Given the description of an element on the screen output the (x, y) to click on. 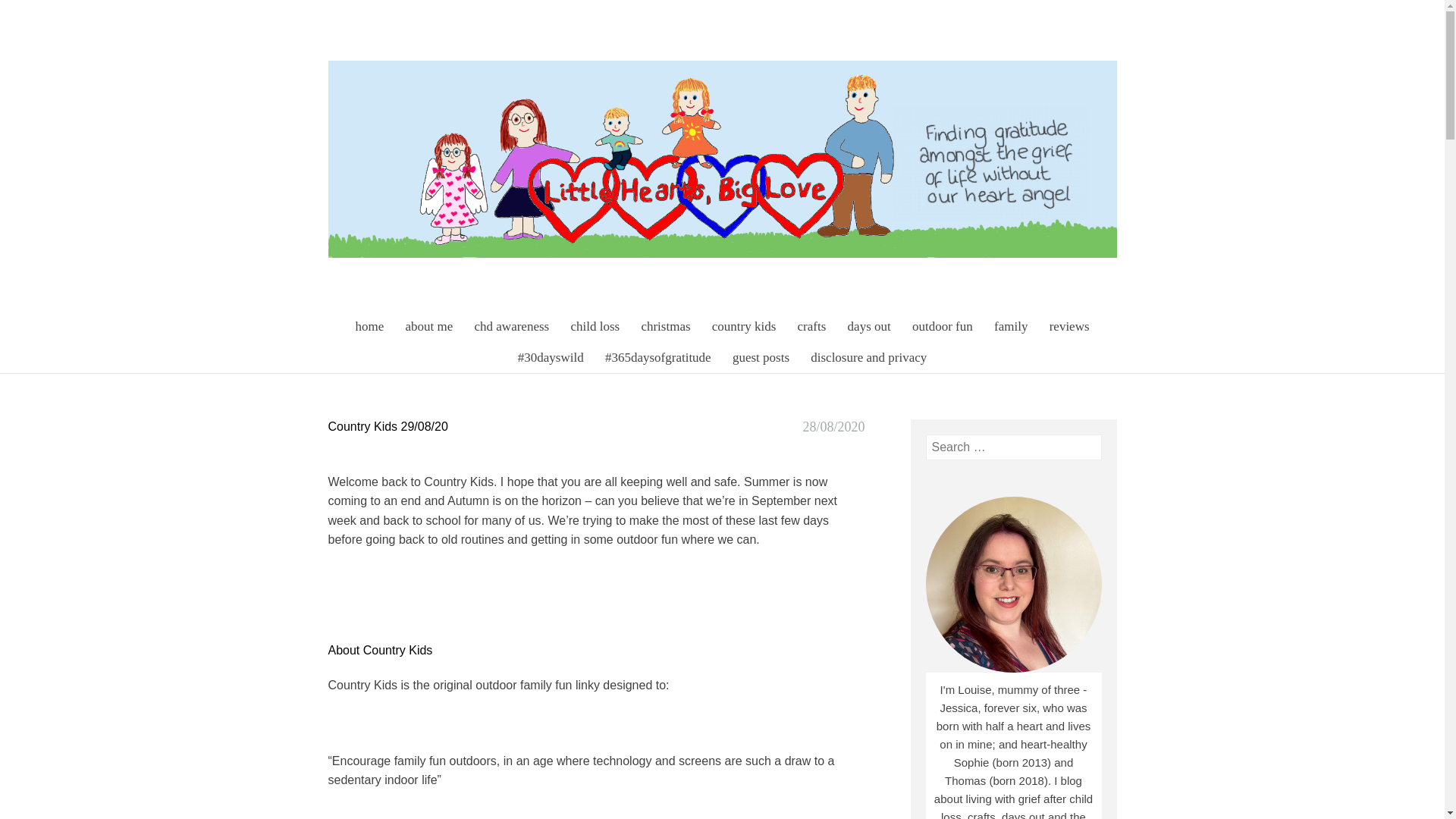
disclosure and privacy (869, 357)
country kids (744, 326)
chd awareness (512, 326)
family (1010, 326)
reviews (1070, 326)
christmas (664, 326)
days out (868, 326)
about me (428, 326)
crafts (812, 326)
outdoor fun (941, 326)
skip to content (313, 319)
home (369, 326)
child loss (594, 326)
guest posts (760, 357)
